Given the description of an element on the screen output the (x, y) to click on. 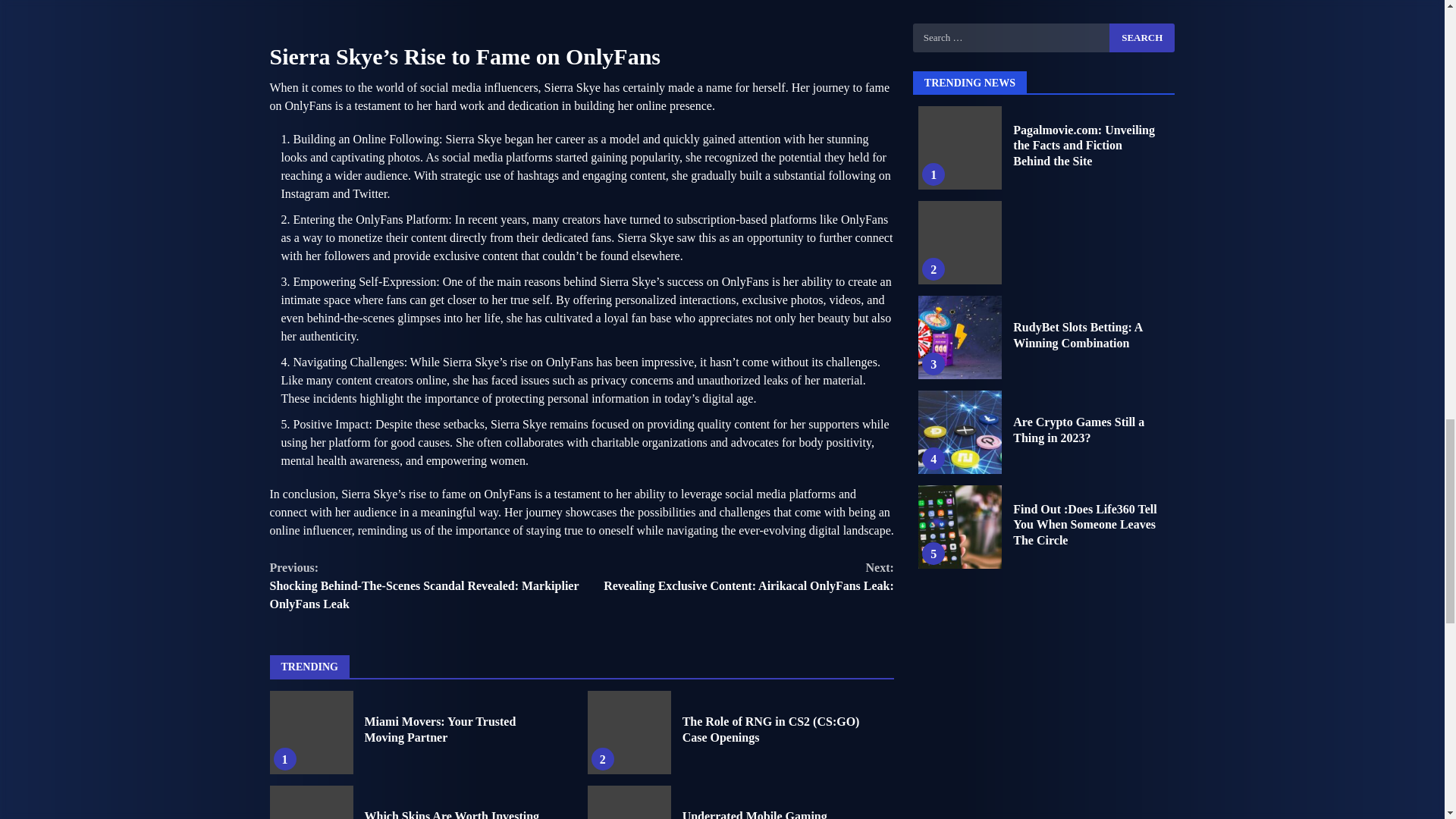
Underrated Mobile Gaming Formats 2024 (629, 802)
Which Skins Are Worth Investing In CS2? (451, 814)
Miami Movers: Your Trusted Moving Partner (439, 728)
Underrated Mobile Gaming Formats 2024 (754, 814)
Miami Movers: Your Trusted Moving Partner (311, 732)
Which Skins Are Worth Investing In CS2? (736, 576)
